Given the description of an element on the screen output the (x, y) to click on. 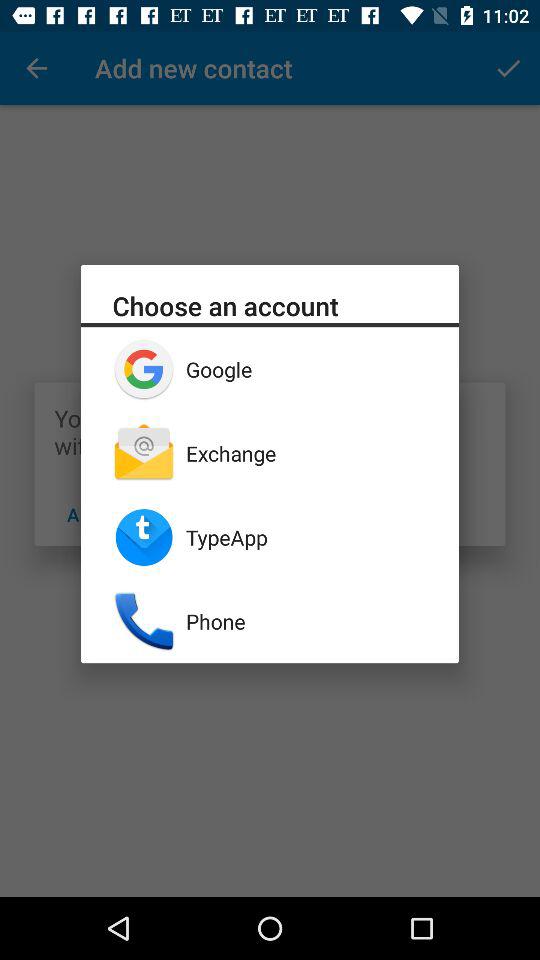
select phone icon (306, 621)
